Given the description of an element on the screen output the (x, y) to click on. 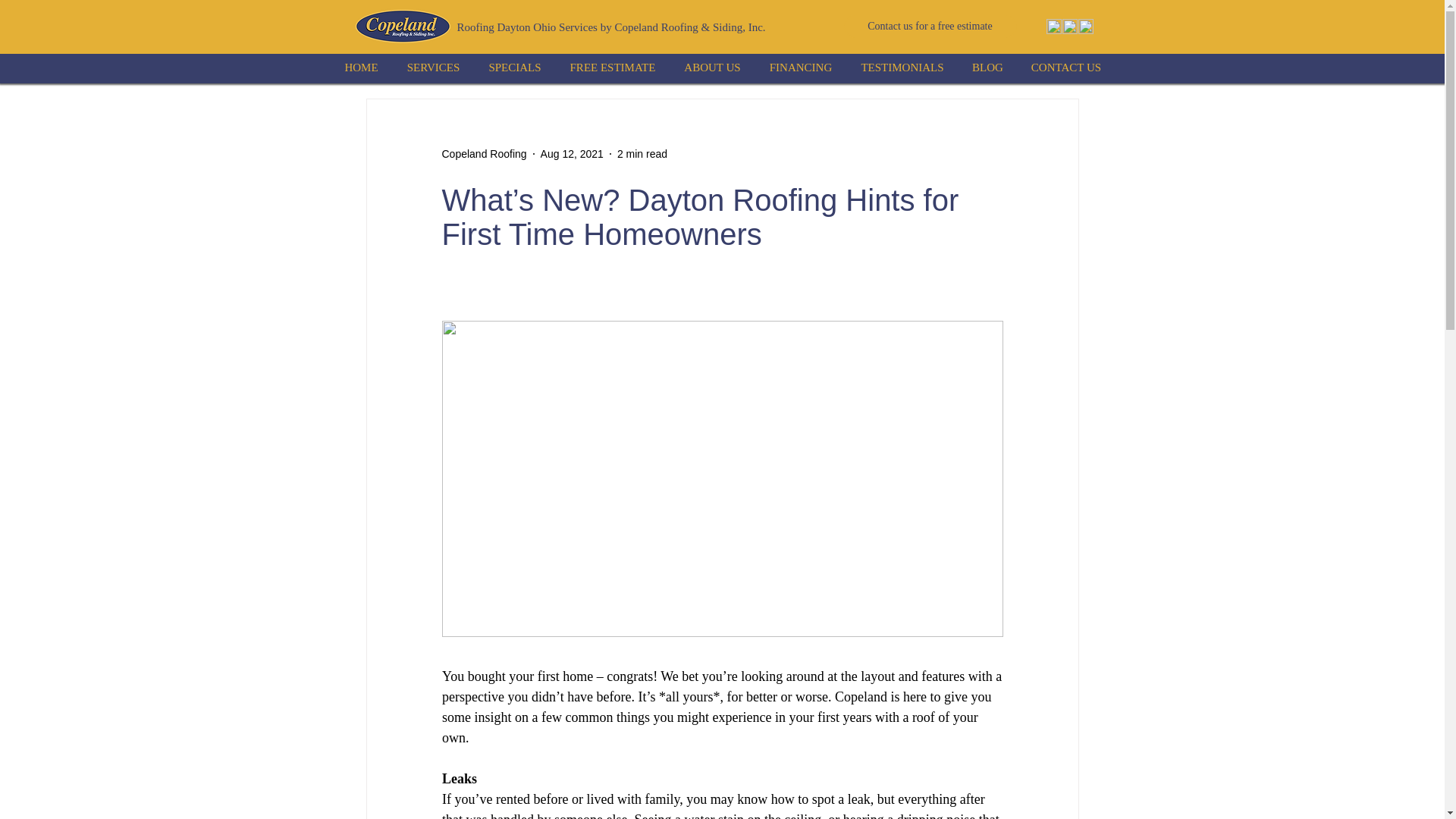
Contact us for a free estimate (929, 26)
HOME (361, 67)
SPECIALS (515, 67)
BLOG (987, 67)
ABOUT US (712, 67)
FREE ESTIMATE (611, 67)
Aug 12, 2021 (572, 152)
Copeland Roofing (483, 153)
2 min read (641, 152)
CONTACT US (1066, 67)
FINANCING (801, 67)
TESTIMONIALS (901, 67)
